Given the description of an element on the screen output the (x, y) to click on. 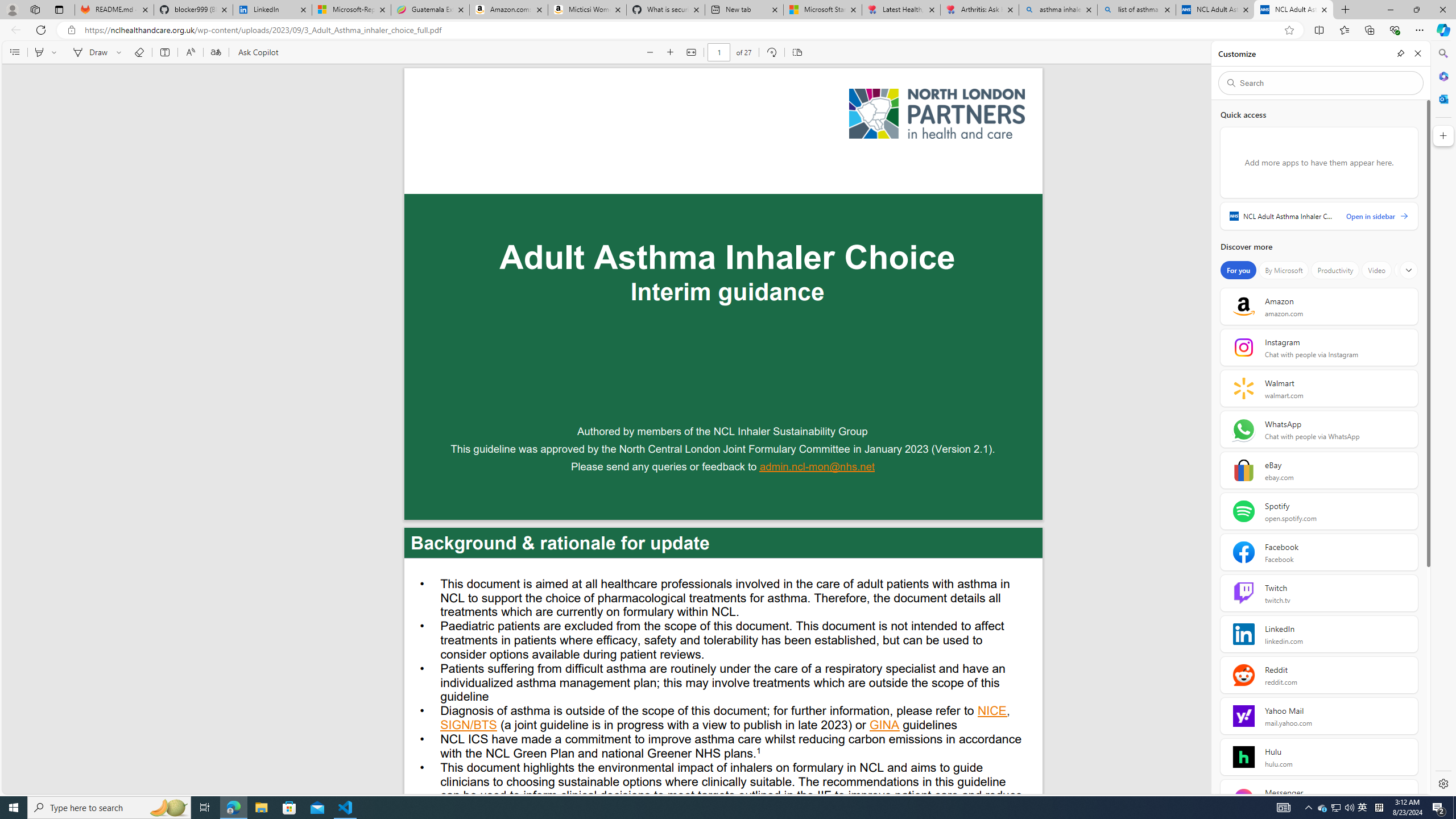
Pin side pane (1401, 53)
Video (1376, 270)
Enter PDF full screen (1412, 52)
By Microsoft (1282, 270)
Fit to width (Ctrl+\) (691, 52)
Translate (215, 52)
Settings and more (1432, 52)
